Given the description of an element on the screen output the (x, y) to click on. 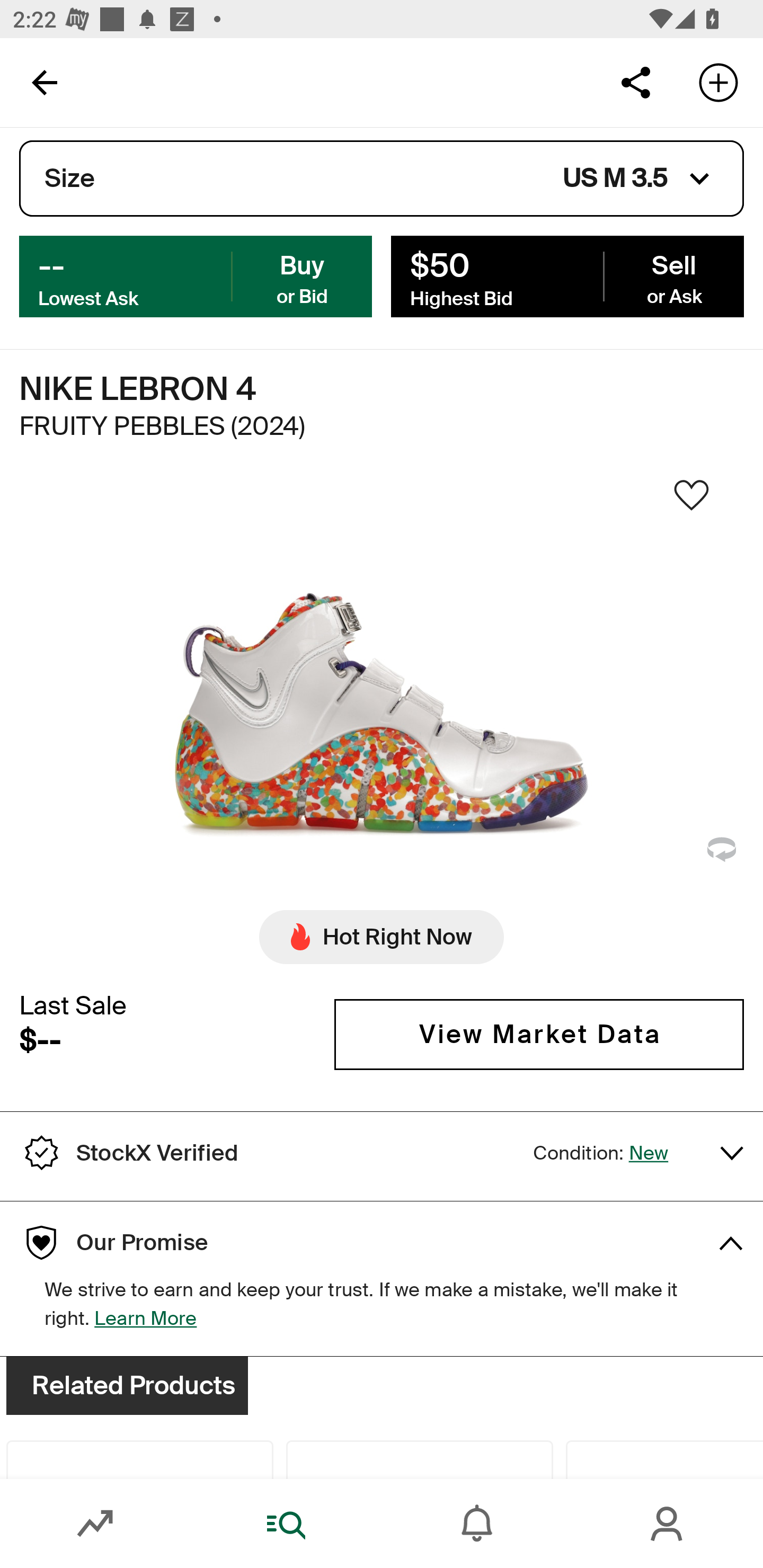
Share (635, 81)
Size US M 3.5 (381, 178)
-- Buy Lowest Ask or Bid (195, 275)
$50 Sell Highest Bid or Ask (566, 275)
Sneaker Image (381, 699)
View Market Data (538, 1034)
Market (95, 1523)
Inbox (476, 1523)
Account (667, 1523)
